Given the description of an element on the screen output the (x, y) to click on. 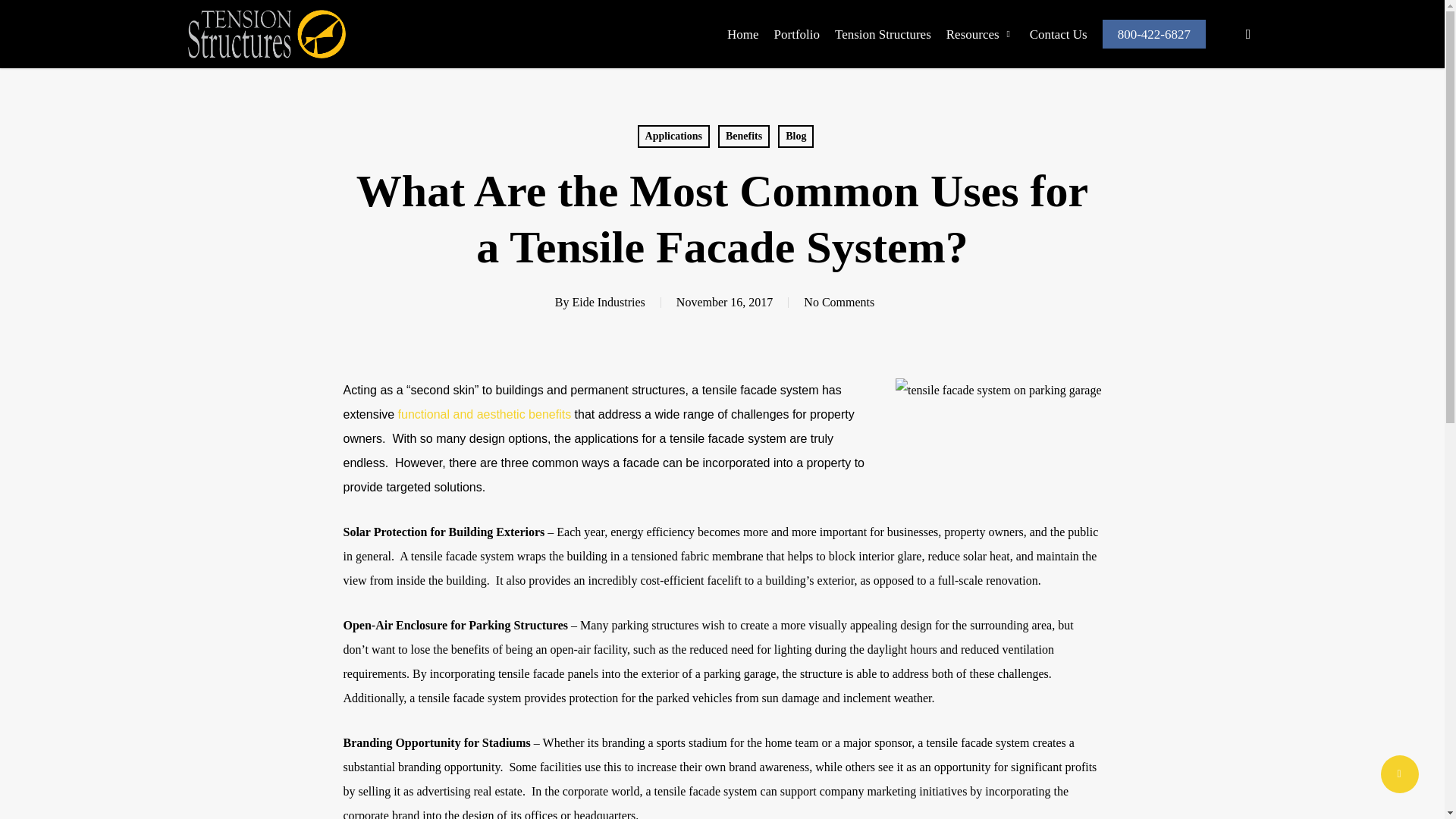
800-422-6827 (1153, 34)
Blog (795, 136)
functional and aesthetic benefits (484, 413)
search (1248, 33)
Eide Industries (608, 301)
Benefits (743, 136)
No Comments (839, 301)
Portfolio (796, 34)
Contact Us (1058, 34)
Applications (673, 136)
Home (742, 34)
Resources (980, 34)
Tension Structures (882, 34)
Posts by Eide Industries (608, 301)
